Given the description of an element on the screen output the (x, y) to click on. 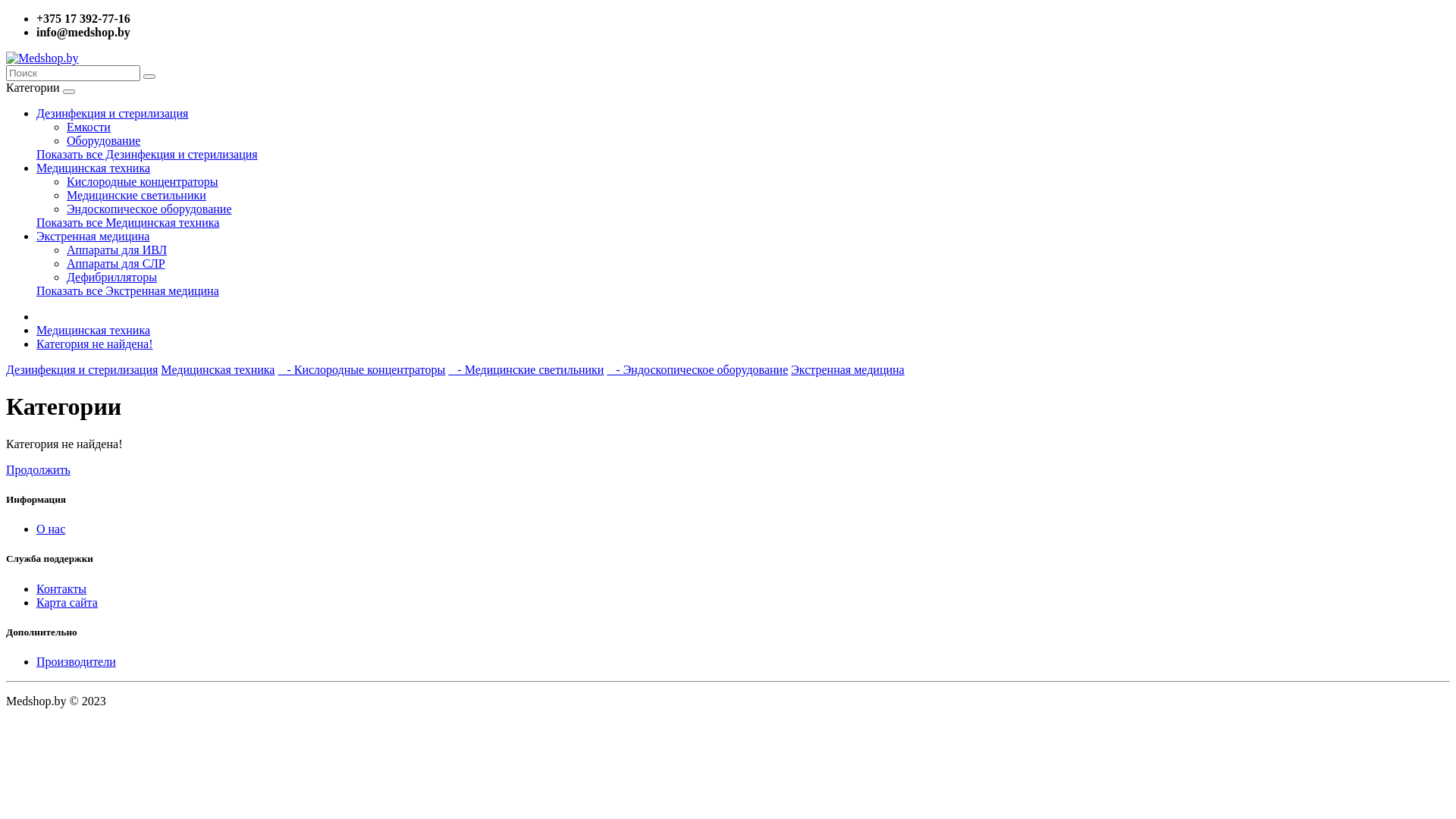
Medshop.by Element type: hover (42, 58)
